Given the description of an element on the screen output the (x, y) to click on. 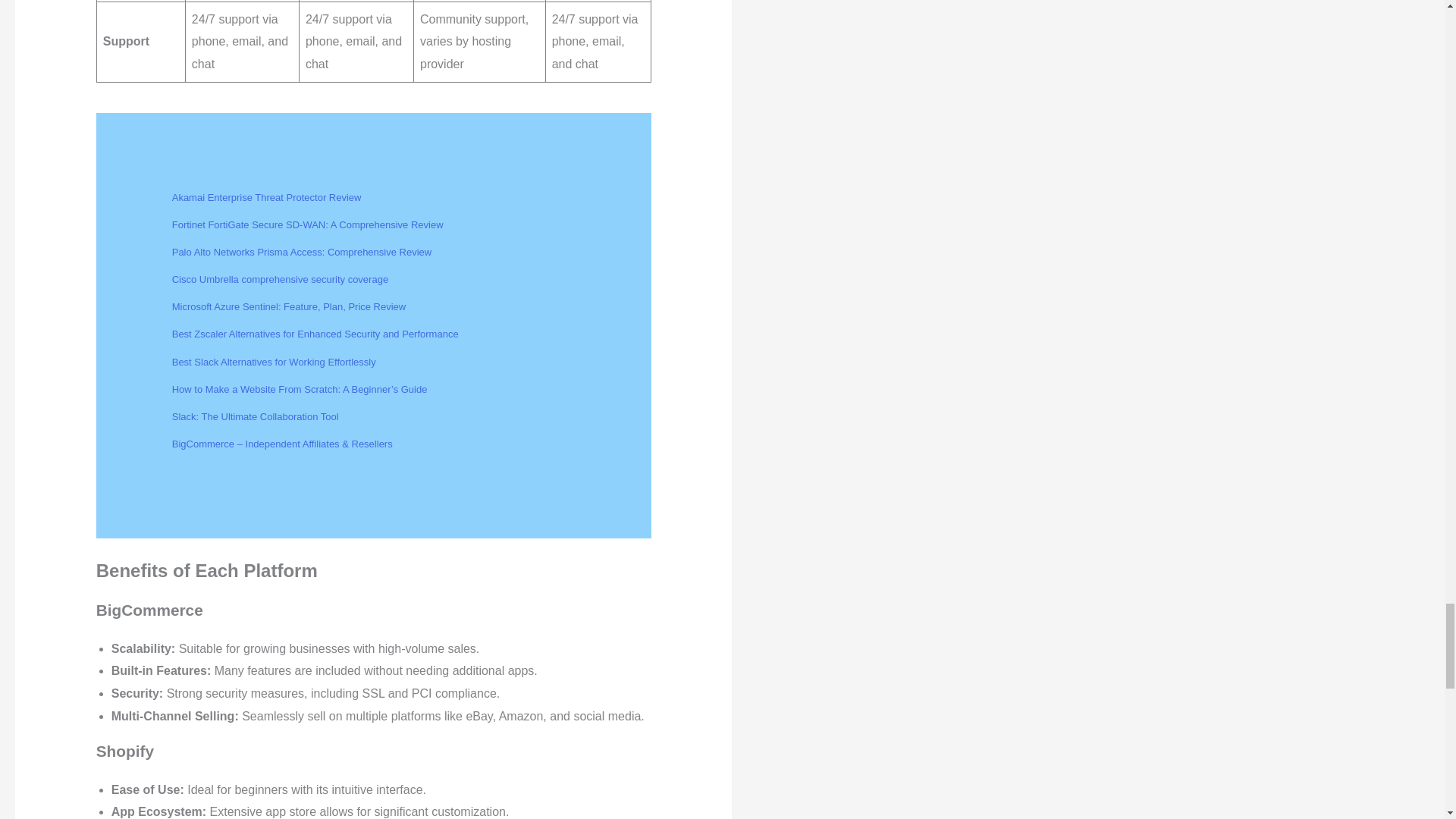
Best Slack Alternatives for Working Effortlessly (273, 361)
Palo Alto Networks Prisma Access: Comprehensive Review (300, 251)
Cisco Umbrella comprehensive security coverage (279, 279)
Microsoft Azure Sentinel: Feature, Plan, Price Review (288, 306)
Fortinet FortiGate Secure SD-WAN: A Comprehensive Review (307, 224)
Akamai Enterprise Threat Protector Review (266, 197)
Slack: The Ultimate Collaboration Tool (255, 416)
